Given the description of an element on the screen output the (x, y) to click on. 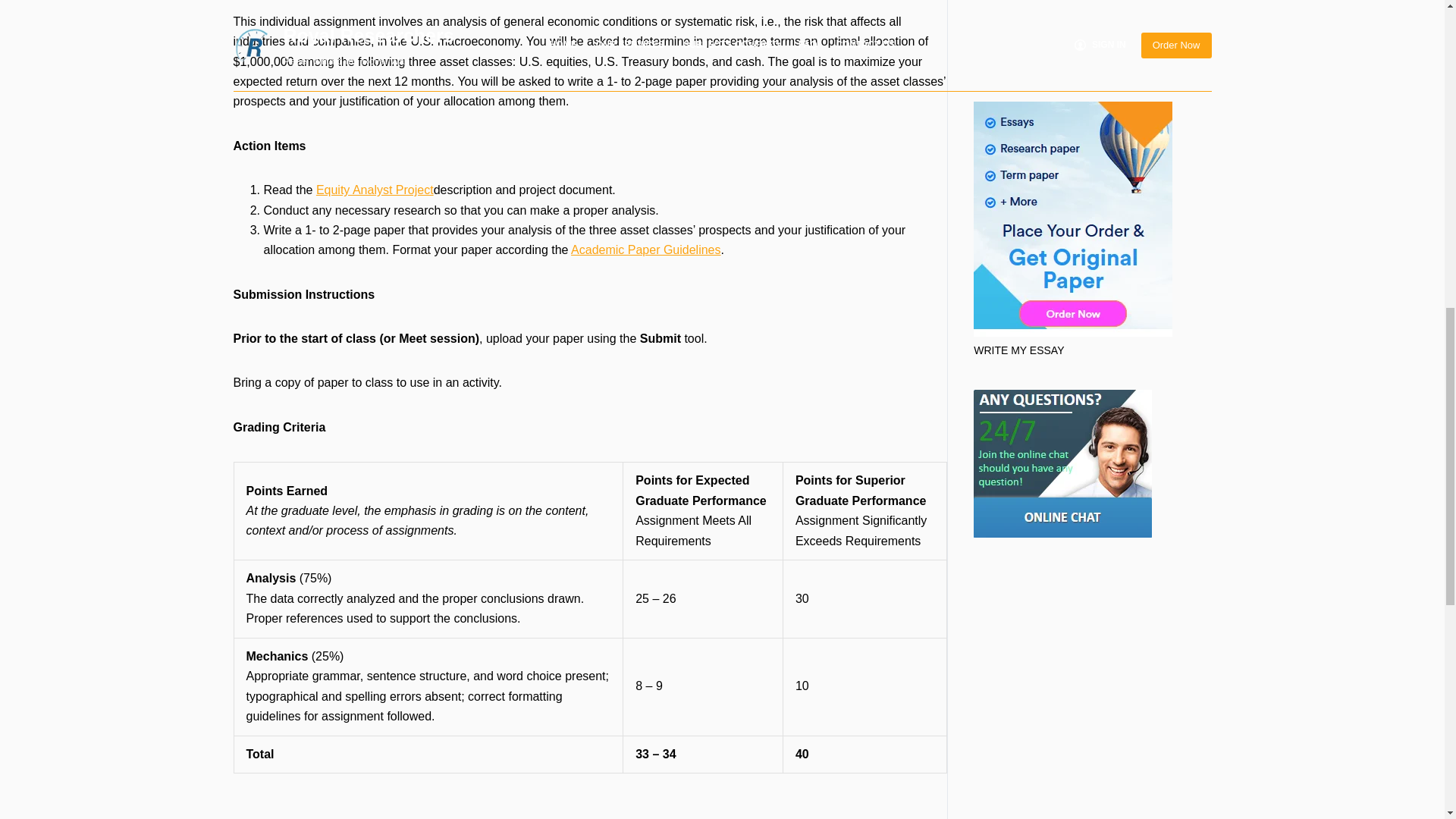
Academic Paper Guidelines (645, 249)
Equity Analyst Project (374, 189)
